Given the description of an element on the screen output the (x, y) to click on. 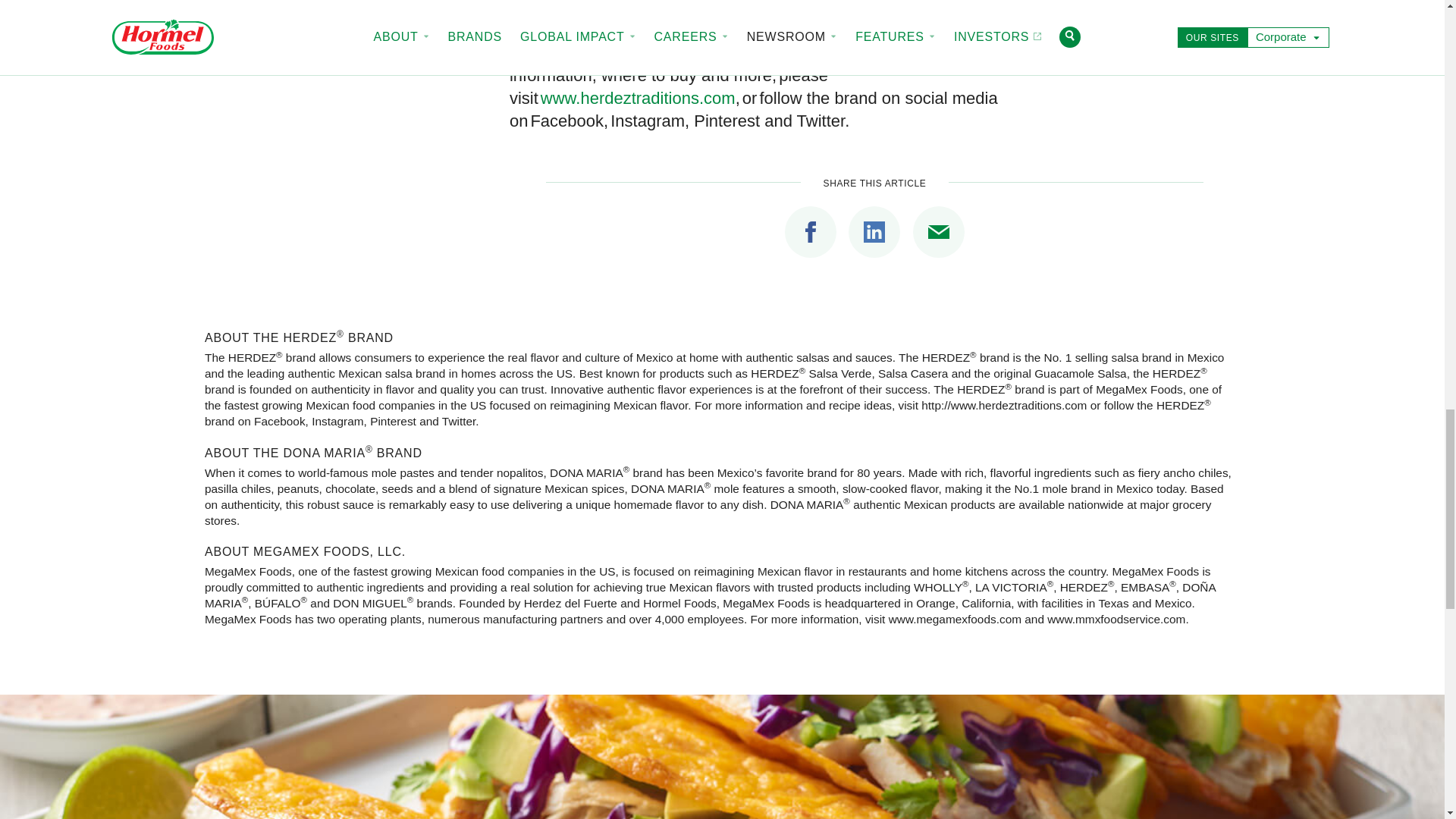
Facebook (809, 231)
Email (937, 231)
Linkedin (873, 231)
